Given the description of an element on the screen output the (x, y) to click on. 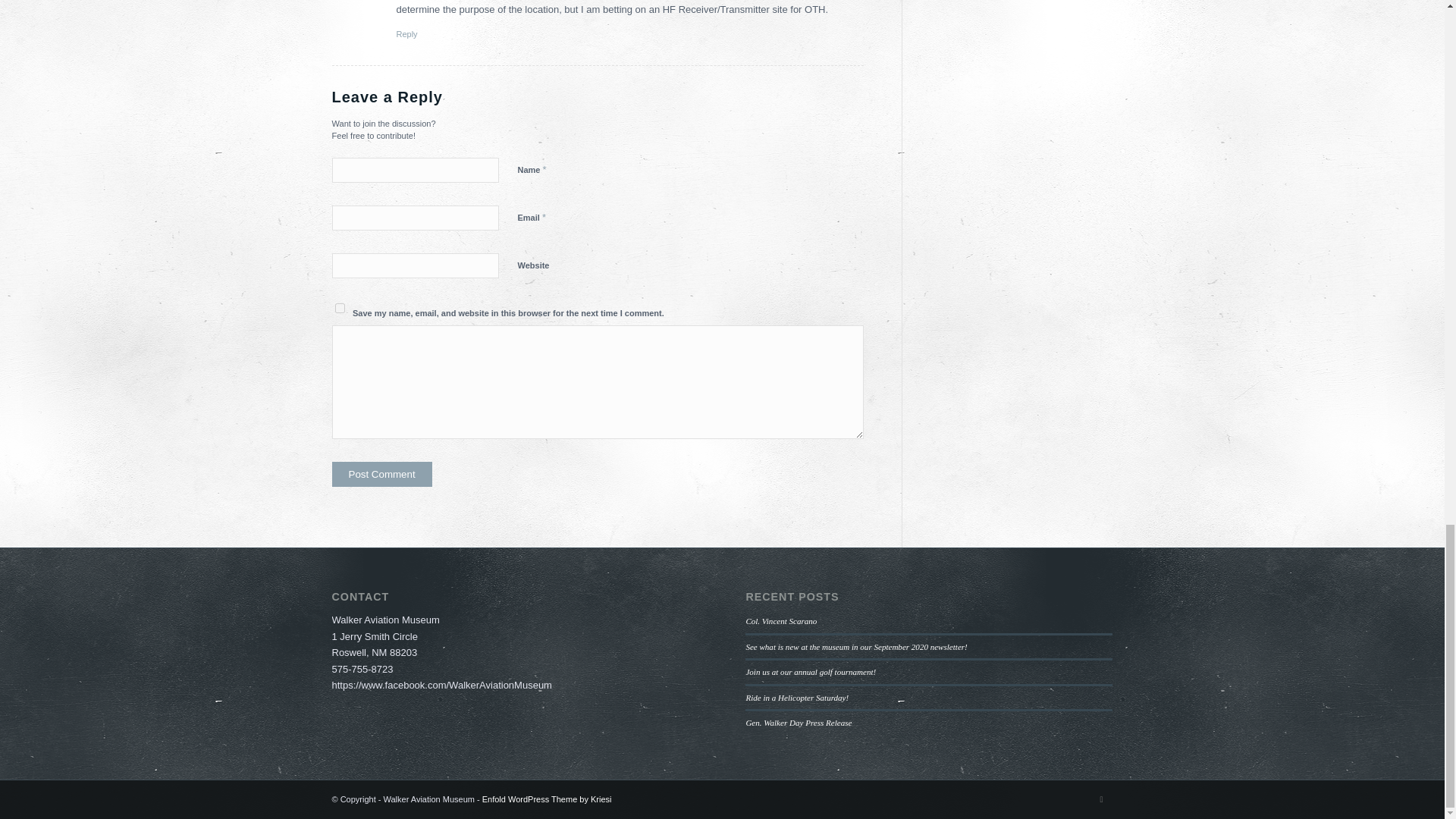
yes (339, 307)
Facebook (1101, 798)
Post Comment (381, 473)
